Given the description of an element on the screen output the (x, y) to click on. 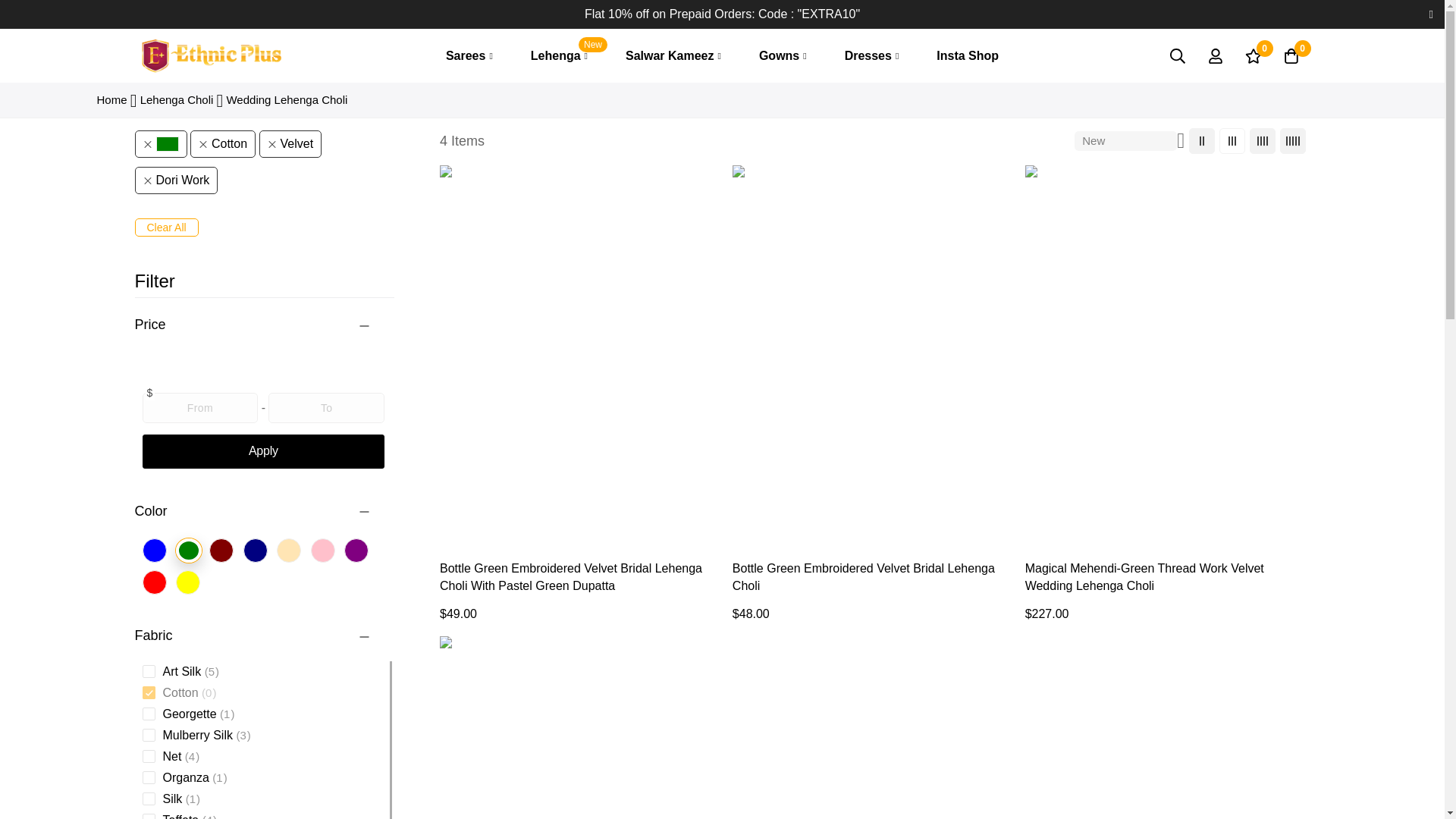
Sarees (468, 55)
Ethnic Plus (210, 55)
Go to Home Page (559, 55)
